Given the description of an element on the screen output the (x, y) to click on. 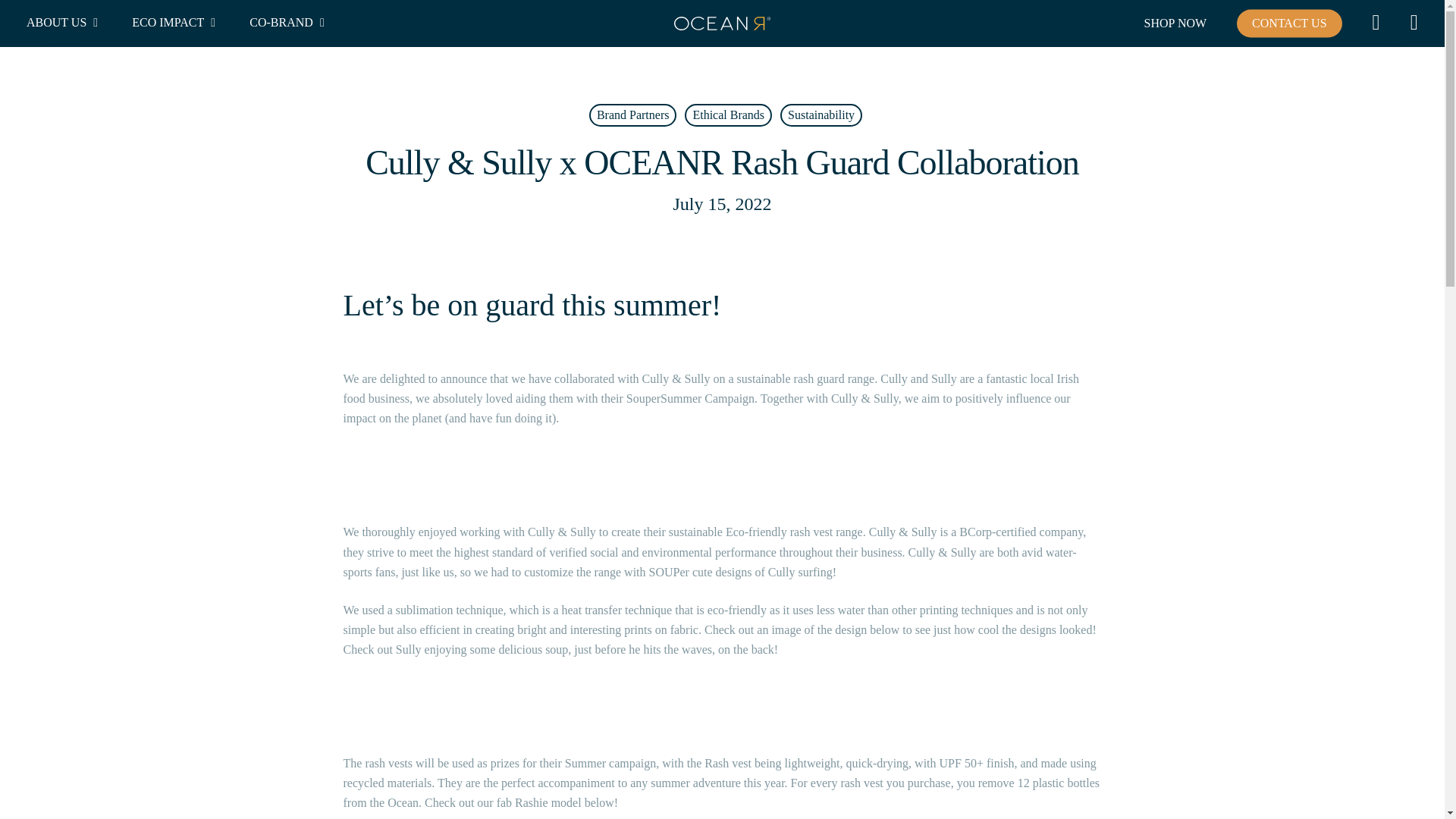
CO-BRAND (288, 22)
ABOUT US (63, 22)
CONTACT US (1288, 23)
SHOP NOW (1175, 23)
ECO IMPACT (175, 22)
